Given the description of an element on the screen output the (x, y) to click on. 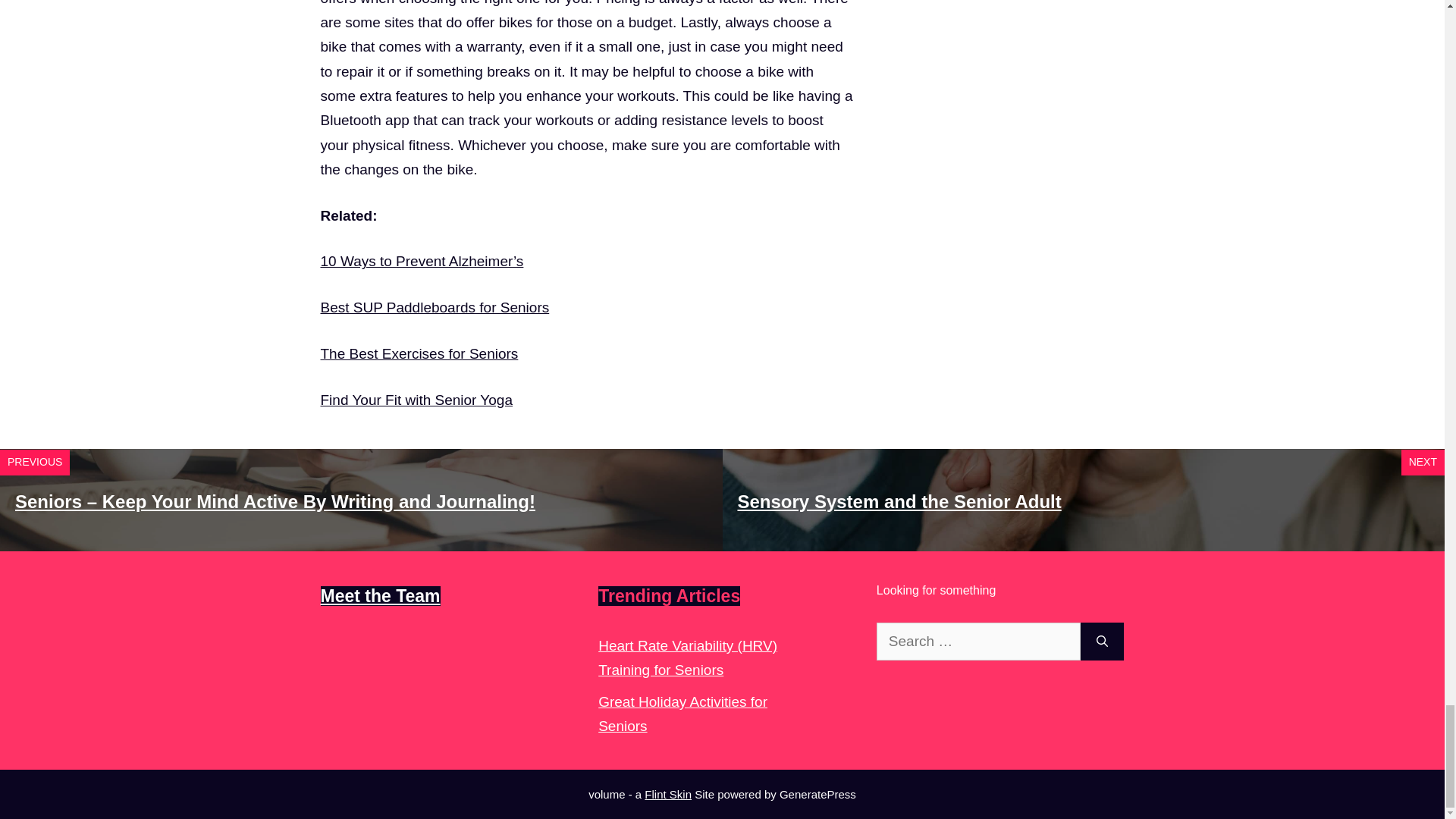
Find Your Fit with Senior Yoga (416, 399)
Search for: (978, 641)
Meet the Team (379, 596)
Sensory System and the Senior Adult (898, 501)
Best SUP Paddleboards for Seniors (434, 307)
The Best Exercises for Seniors (419, 353)
Great Holiday Activities for Seniors (682, 713)
